Given the description of an element on the screen output the (x, y) to click on. 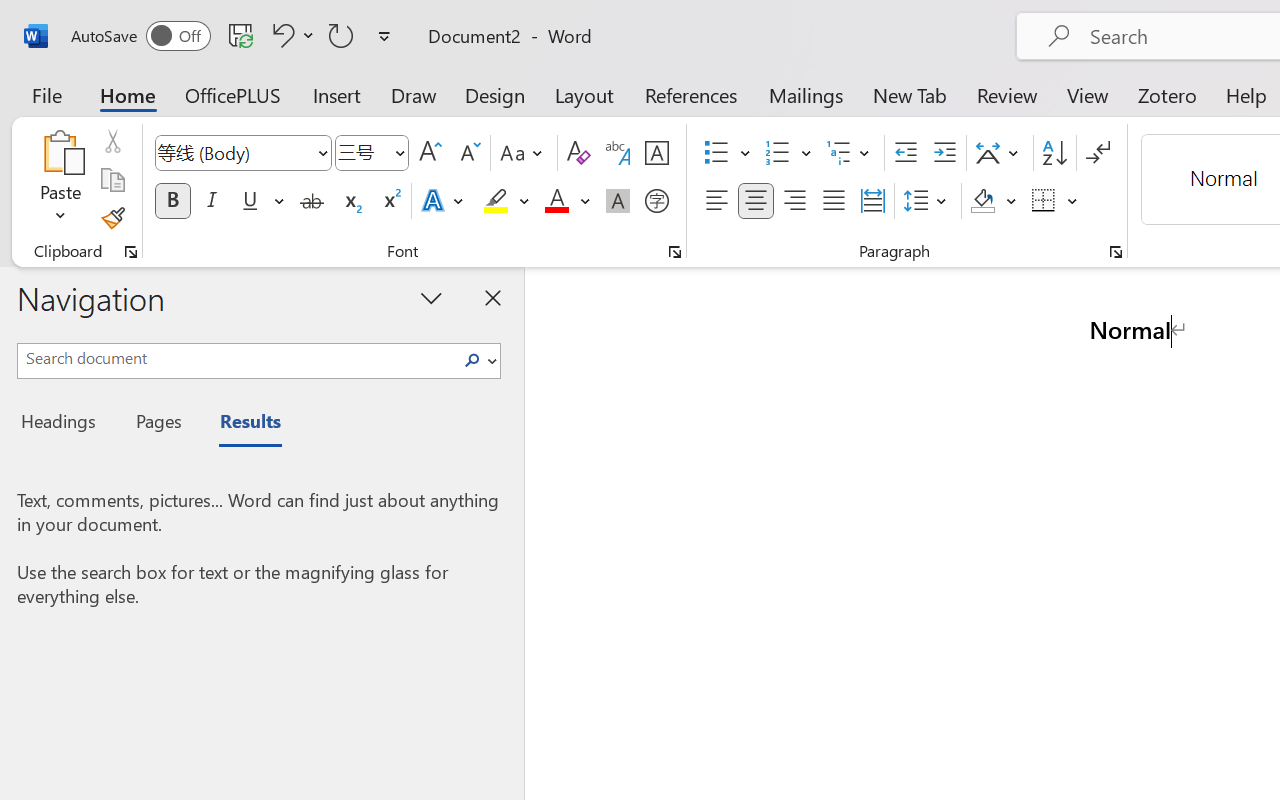
Results (240, 424)
Font Size (362, 152)
Shading RGB(0, 0, 0) (982, 201)
Justify (834, 201)
Font (234, 152)
Distributed (872, 201)
File Tab (46, 94)
Asian Layout (1000, 153)
Paste (60, 179)
Underline (250, 201)
Pages (156, 424)
Headings (64, 424)
Character Shading (618, 201)
Font Color (567, 201)
